Given the description of an element on the screen output the (x, y) to click on. 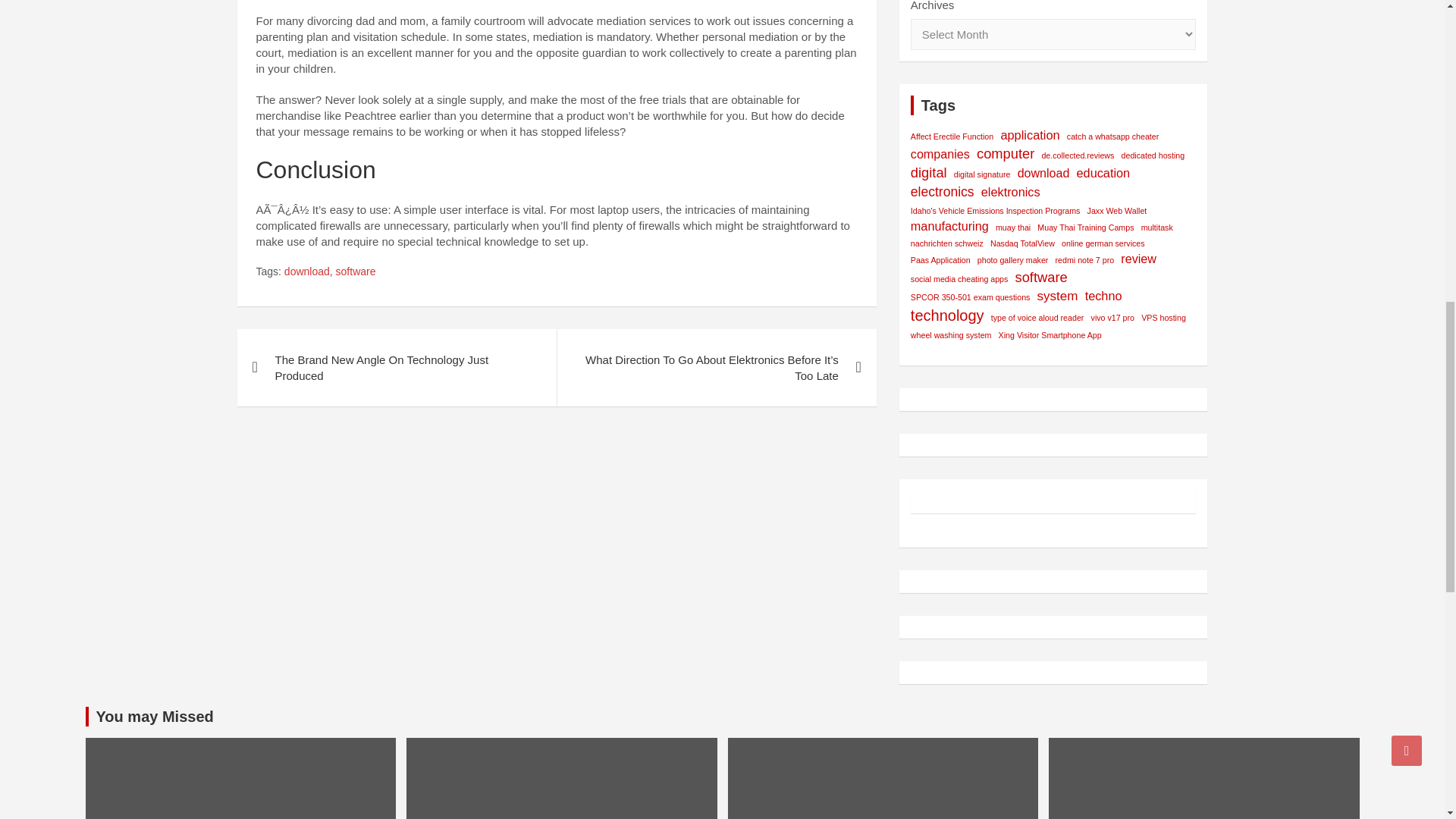
download (306, 272)
The Brand New Angle On Technology Just Produced (395, 367)
software (355, 272)
